Given the description of an element on the screen output the (x, y) to click on. 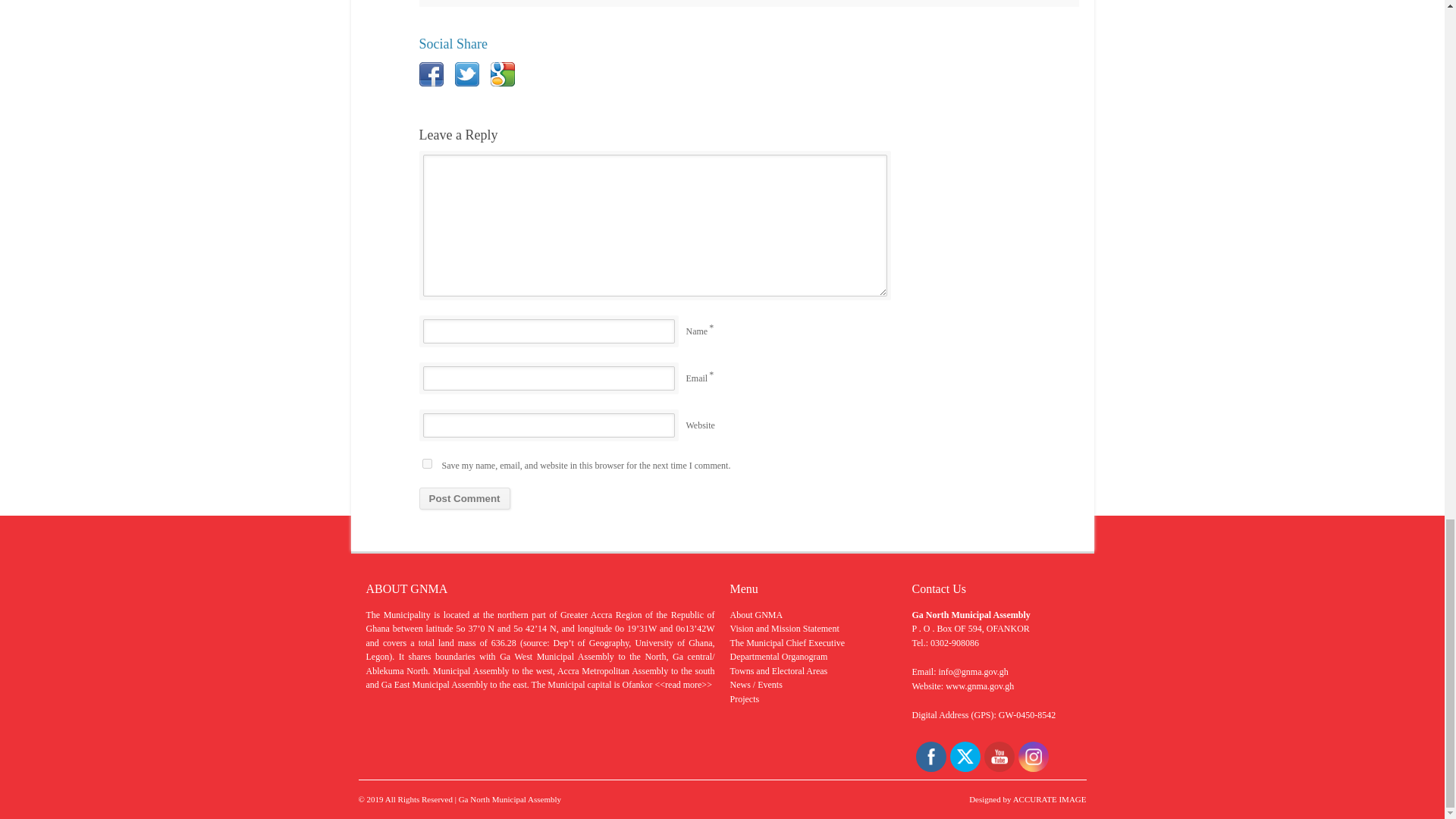
yes (426, 463)
Twitter (965, 756)
Facebook (930, 756)
Instagram (1033, 756)
Post Comment (464, 498)
YouTube (998, 756)
